Given the description of an element on the screen output the (x, y) to click on. 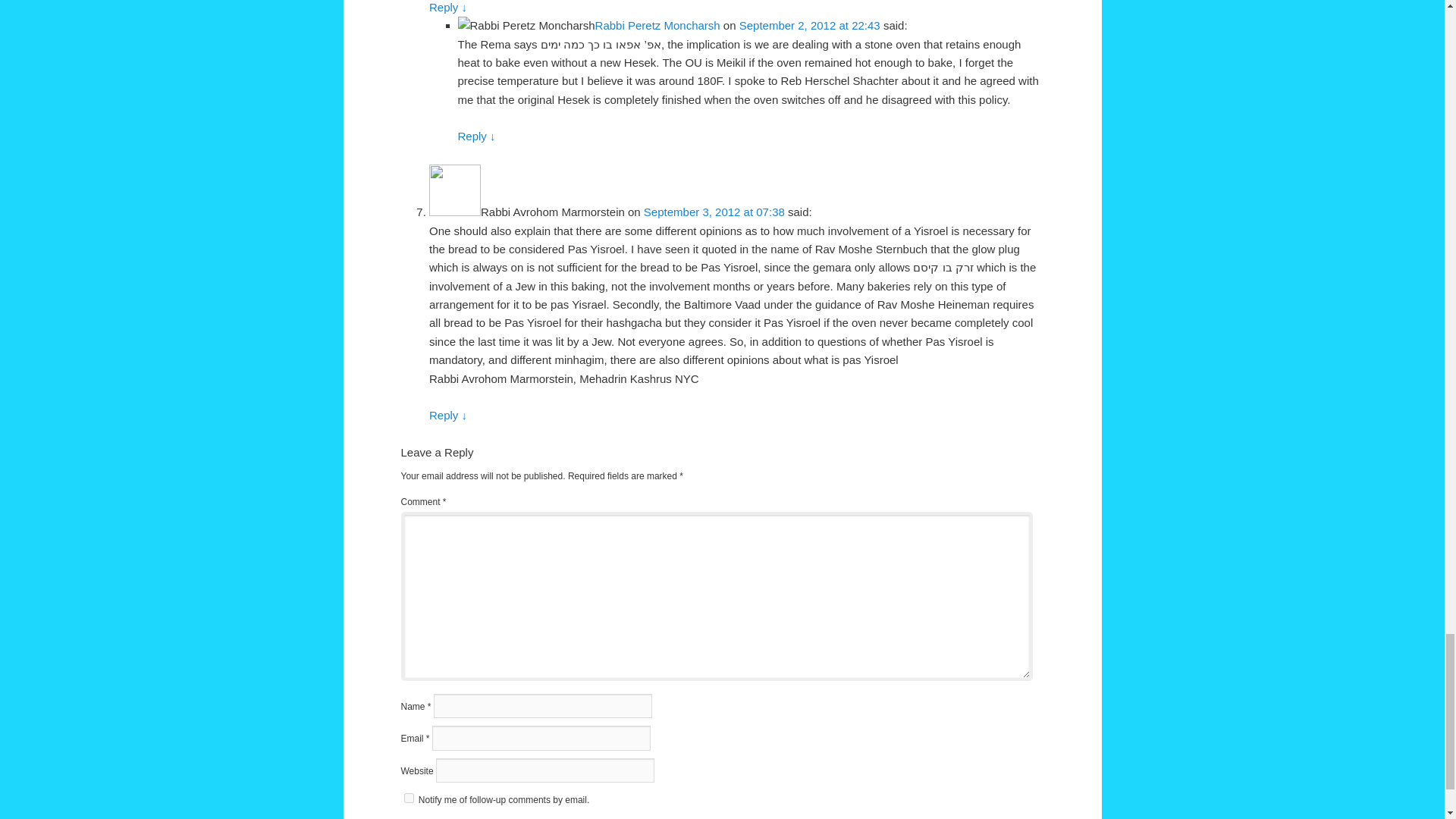
subscribe (408, 798)
